Given the description of an element on the screen output the (x, y) to click on. 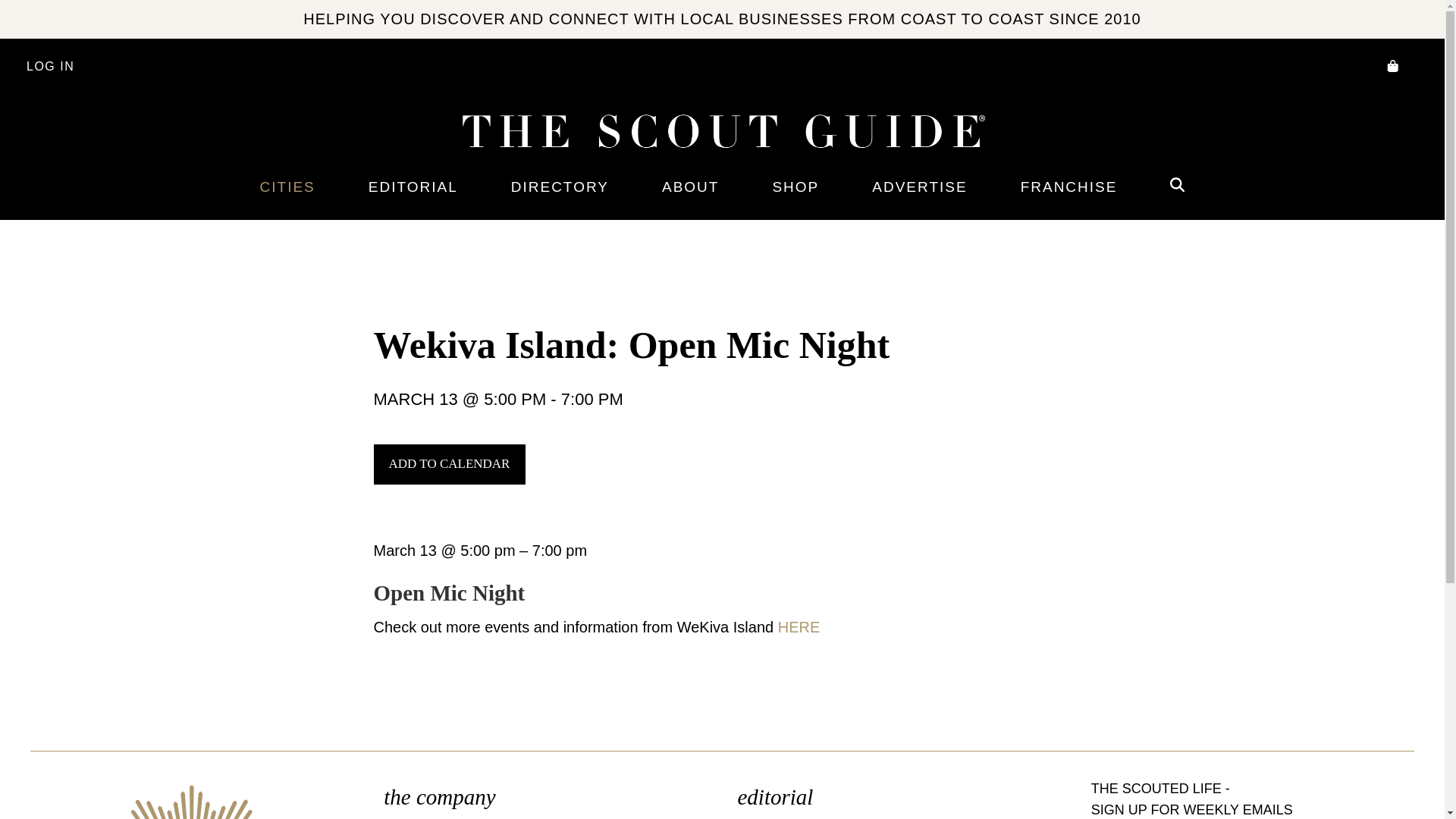
The Scout Guide Icon Logo (191, 800)
FRANCHISE (1069, 186)
SHOP (795, 186)
ABOUT (689, 186)
LOG IN (49, 66)
Open Mic Night (448, 592)
ADVERTISE (919, 186)
EDITORIAL (413, 186)
DIRECTORY (559, 186)
CITIES (287, 186)
